Given the description of an element on the screen output the (x, y) to click on. 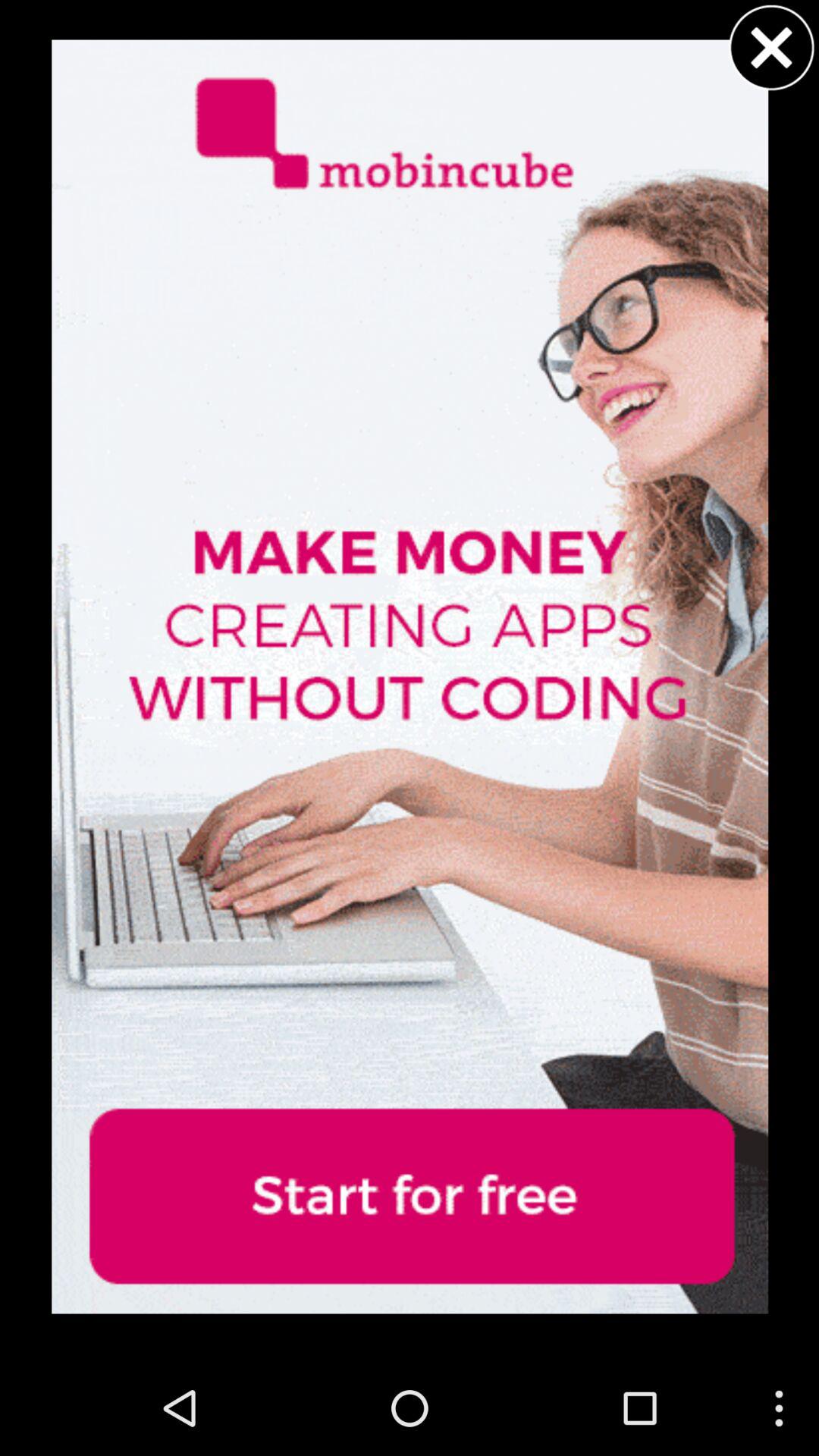
close dialogue box (771, 47)
